Given the description of an element on the screen output the (x, y) to click on. 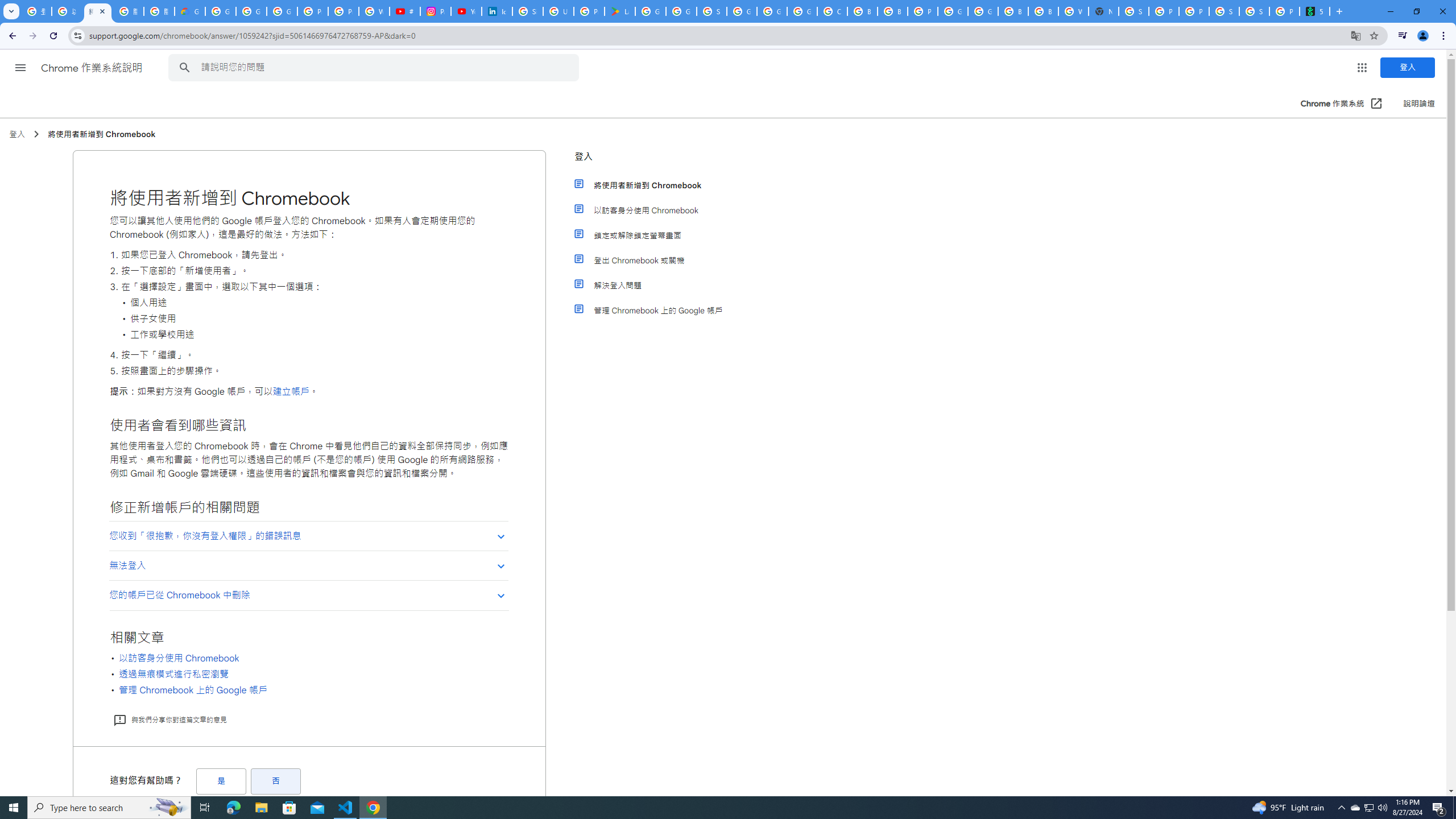
Privacy Help Center - Policies Help (343, 11)
